Given the description of an element on the screen output the (x, y) to click on. 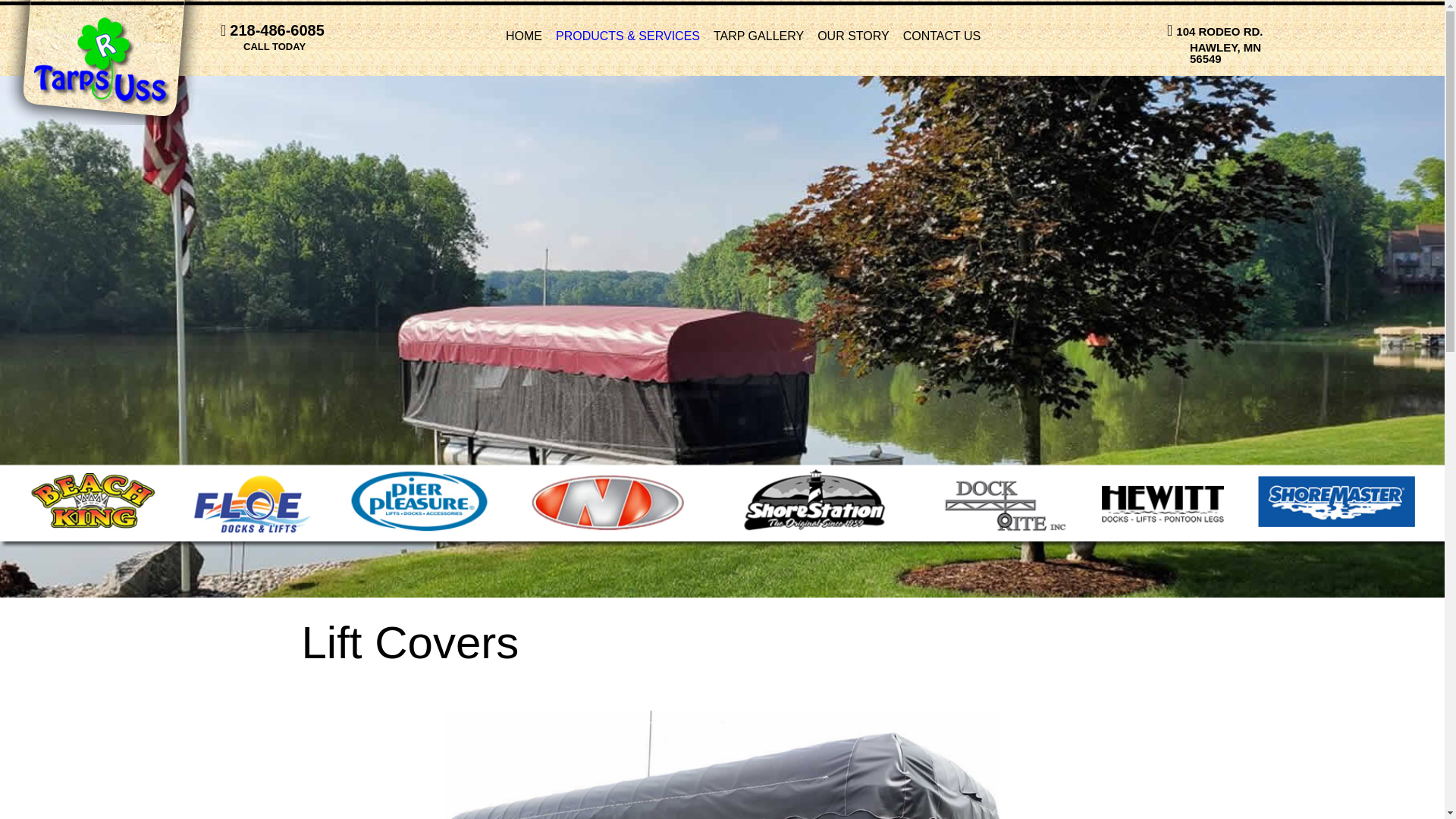
HOME (524, 35)
CONTACT US (1227, 58)
TARP GALLERY (942, 35)
OUR STORY (759, 35)
